Given the description of an element on the screen output the (x, y) to click on. 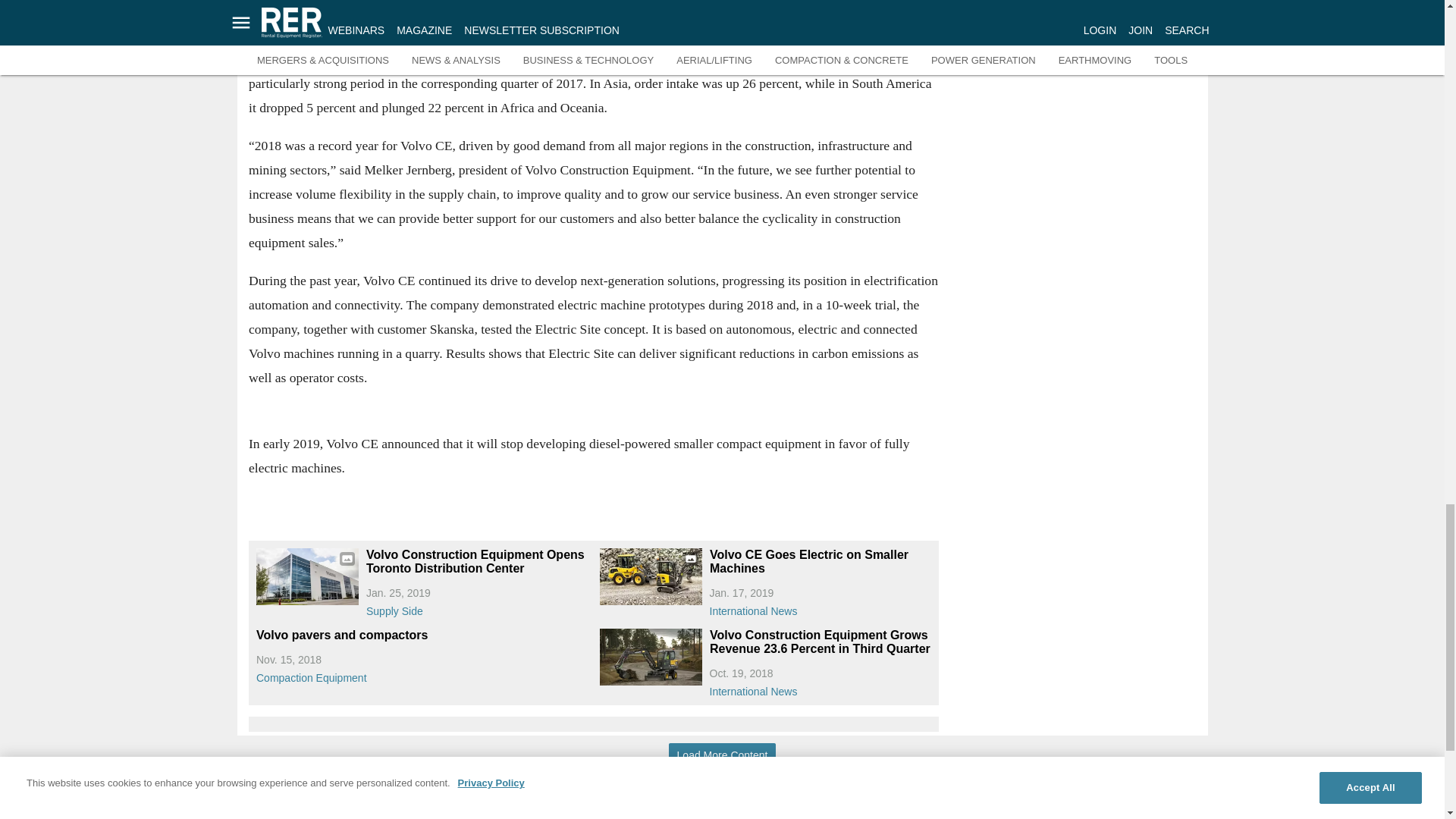
A Volvo wheeled compact excavator (649, 656)
